Given the description of an element on the screen output the (x, y) to click on. 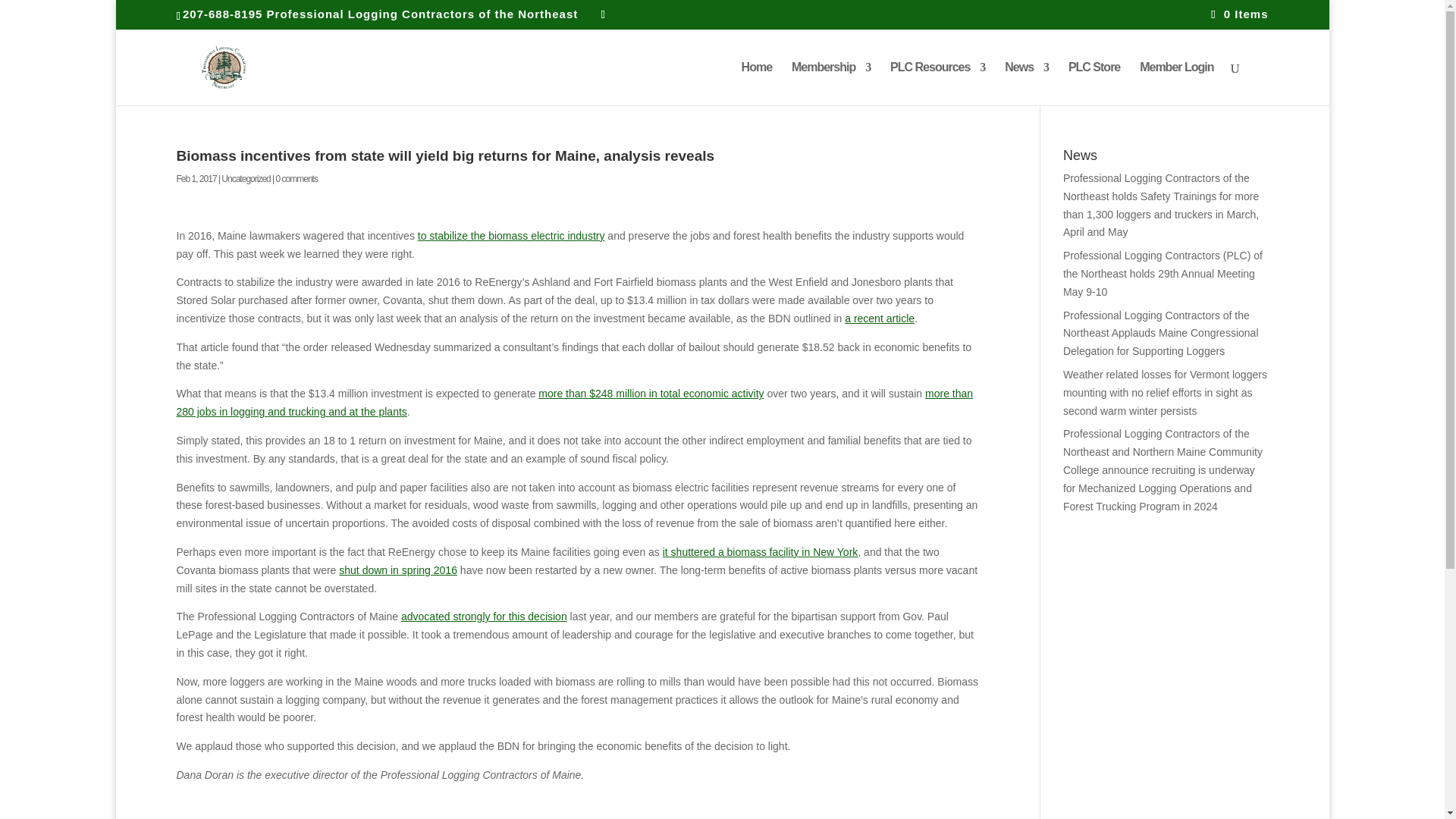
Member Login (1176, 83)
PLC Store (1093, 83)
PLC Resources (937, 83)
Membership (831, 83)
News (1026, 83)
0 Items (1239, 13)
